Given the description of an element on the screen output the (x, y) to click on. 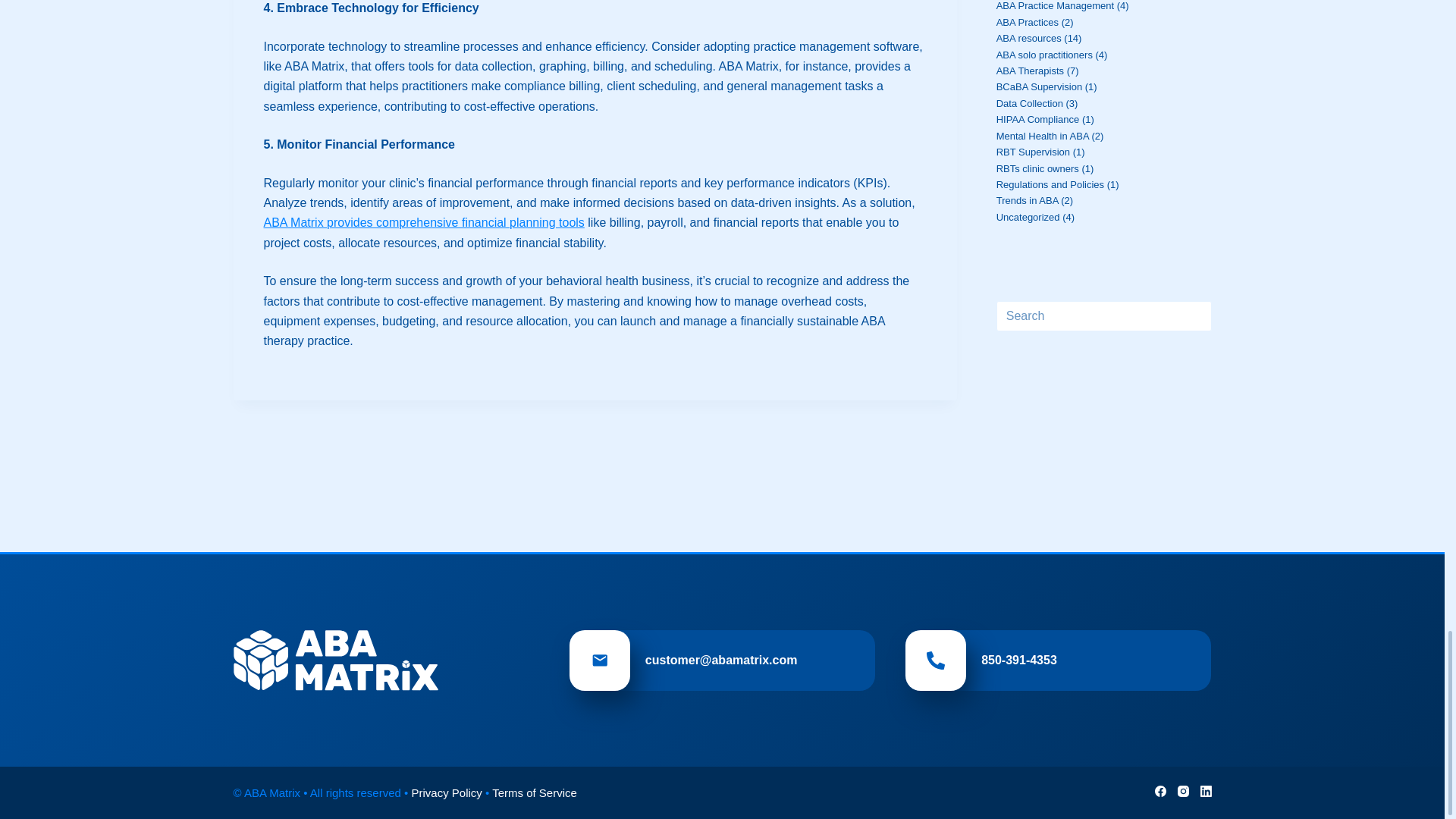
ABA Matrix provides comprehensive financial planning tools (424, 222)
